Given the description of an element on the screen output the (x, y) to click on. 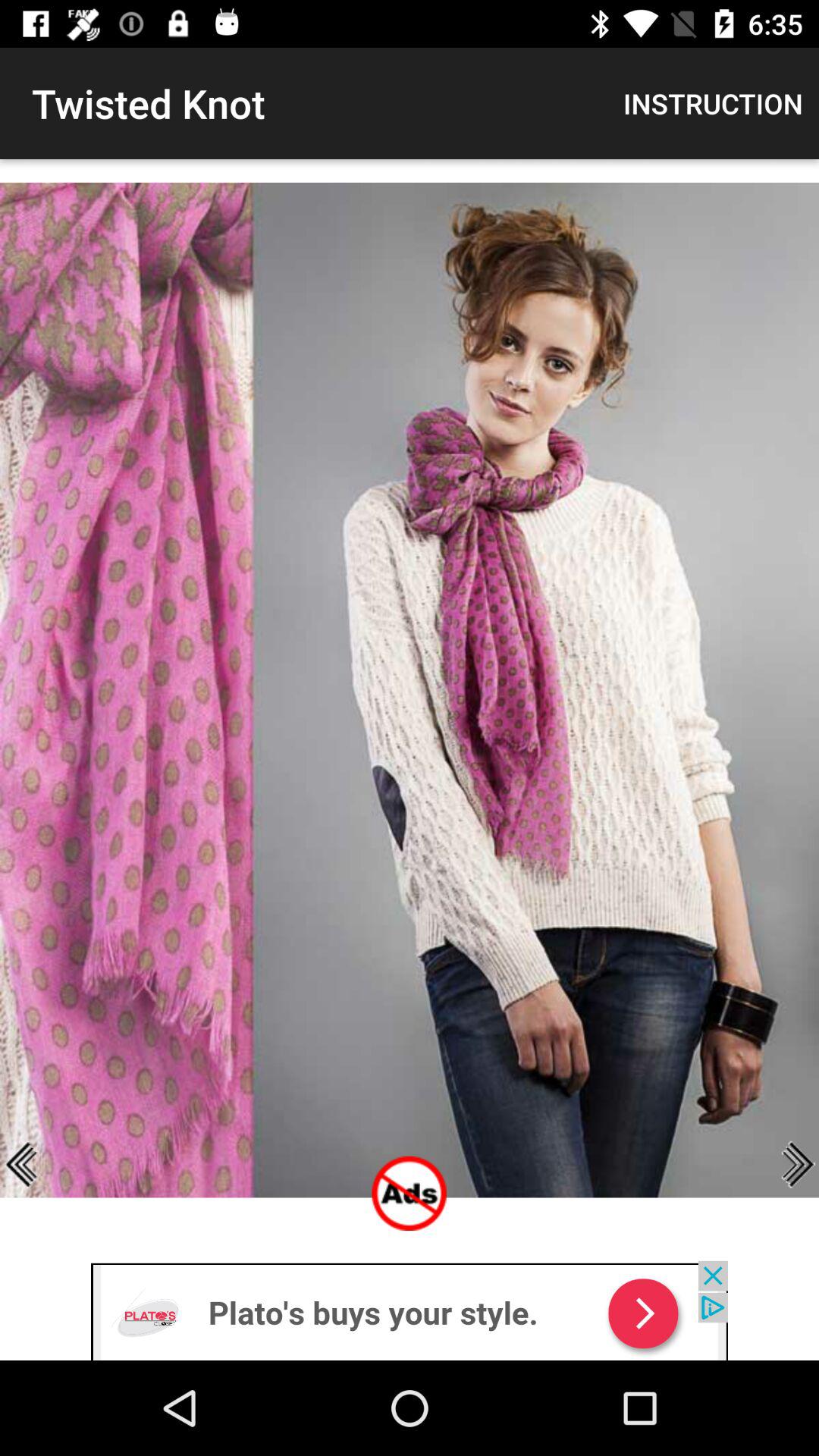
plato buys your style go-to (409, 1310)
